Given the description of an element on the screen output the (x, y) to click on. 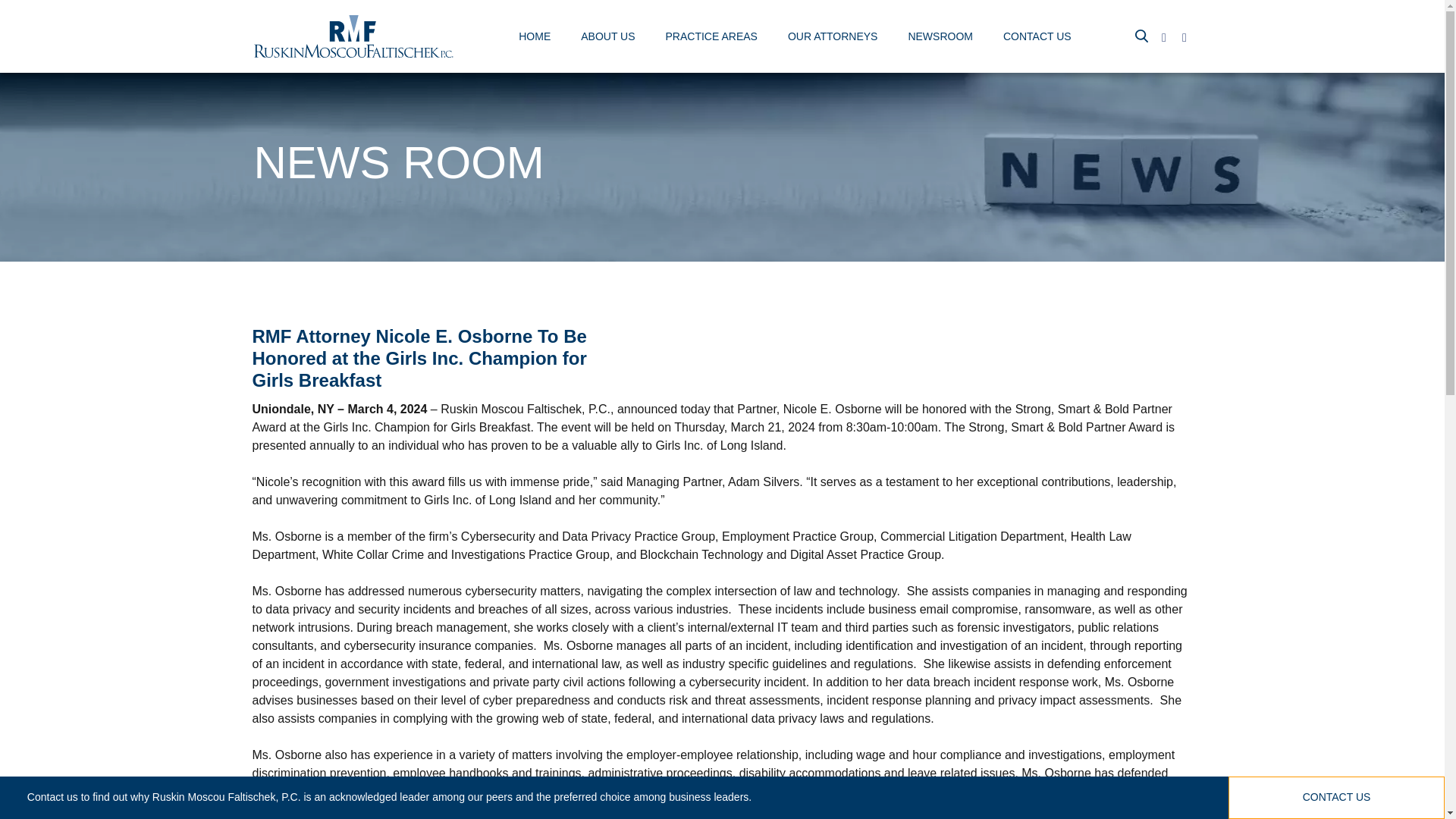
PRACTICE AREAS (711, 37)
CONTACT US (1335, 797)
ABOUT US (607, 37)
NEWSROOM (939, 37)
OUR ATTORNEYS (832, 37)
CONTACT US (1037, 37)
HOME (534, 37)
